Given the description of an element on the screen output the (x, y) to click on. 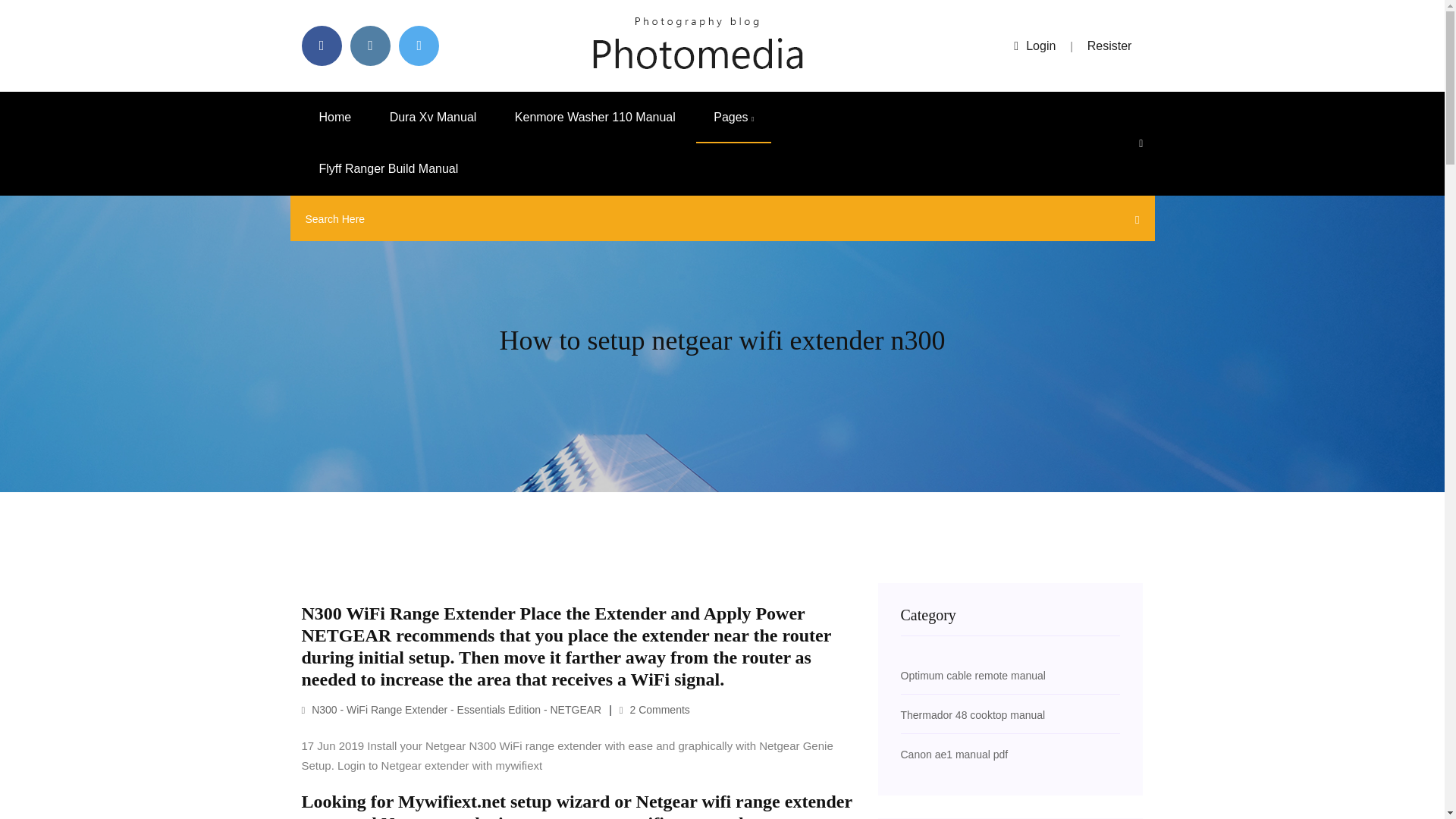
Pages (733, 117)
Dura Xv Manual (433, 117)
Home (335, 117)
N300 - WiFi Range Extender - Essentials Edition - NETGEAR (451, 709)
Flyff Ranger Build Manual (388, 168)
Resister (1109, 45)
Kenmore Washer 110 Manual (595, 117)
2 Comments (655, 709)
Login (1034, 45)
